Given the description of an element on the screen output the (x, y) to click on. 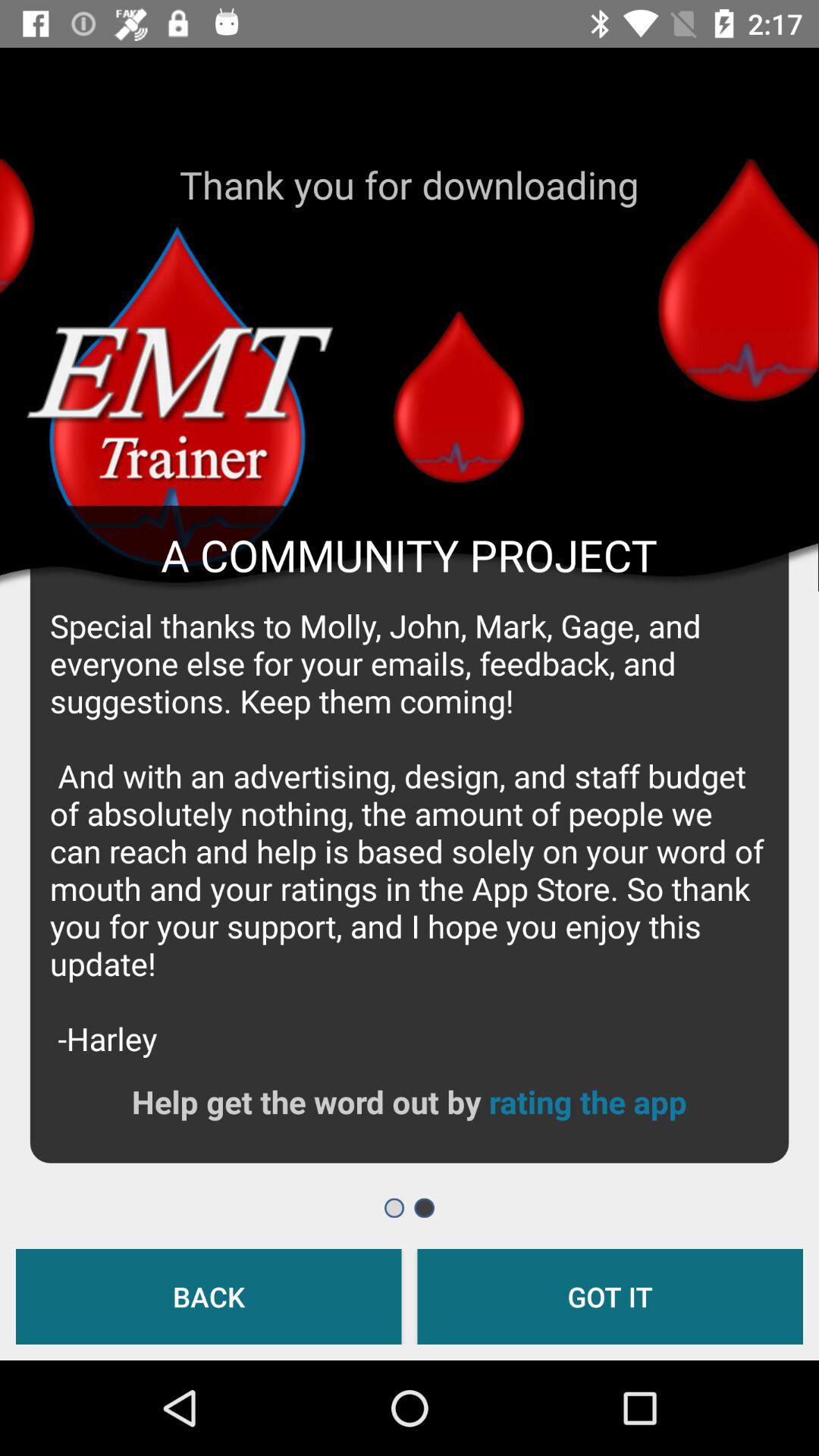
flip to the got it item (610, 1296)
